Given the description of an element on the screen output the (x, y) to click on. 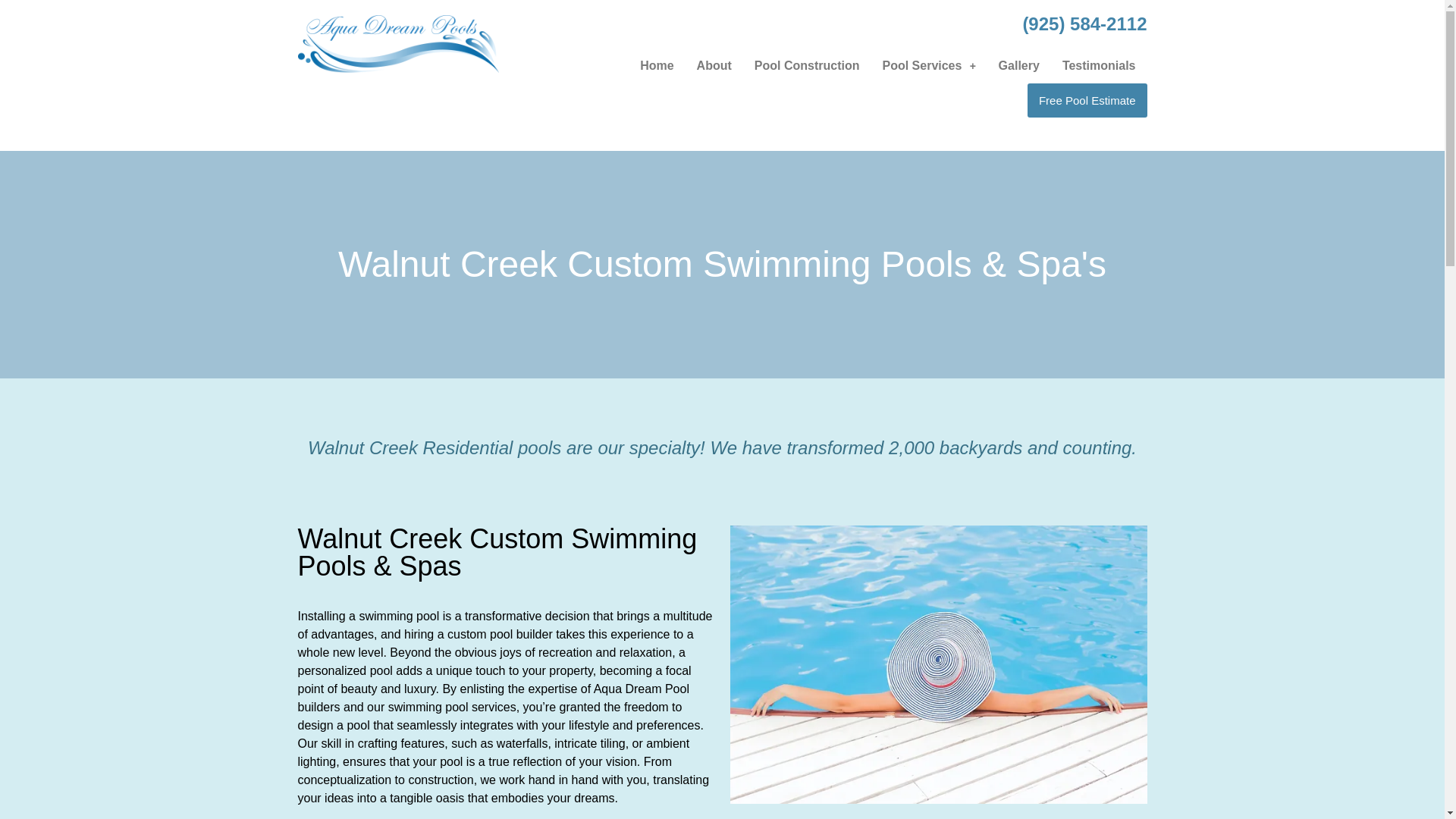
Pool Construction (806, 65)
Gallery (1019, 65)
Free Pool Estimate (1087, 100)
Pool Services (928, 65)
Home (656, 65)
Testimonials (1099, 65)
About (713, 65)
